Given the description of an element on the screen output the (x, y) to click on. 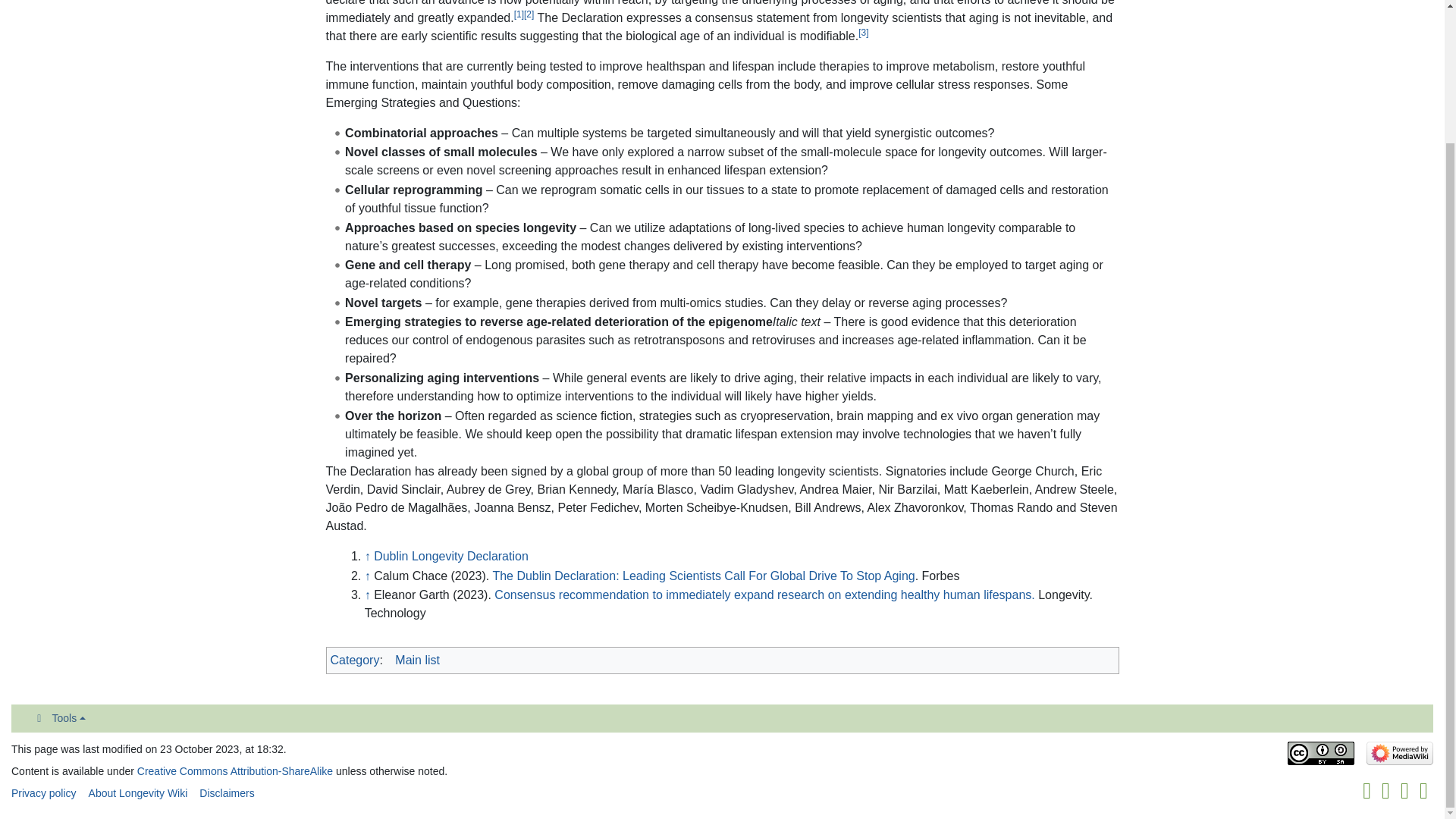
Main list (416, 659)
Creative Commons Attribution-ShareAlike (234, 770)
Tools (58, 718)
Privacy policy (44, 793)
Dublin Longevity Declaration (451, 555)
Special:Categories (355, 659)
Category (355, 659)
Category:Main list (416, 659)
